Given the description of an element on the screen output the (x, y) to click on. 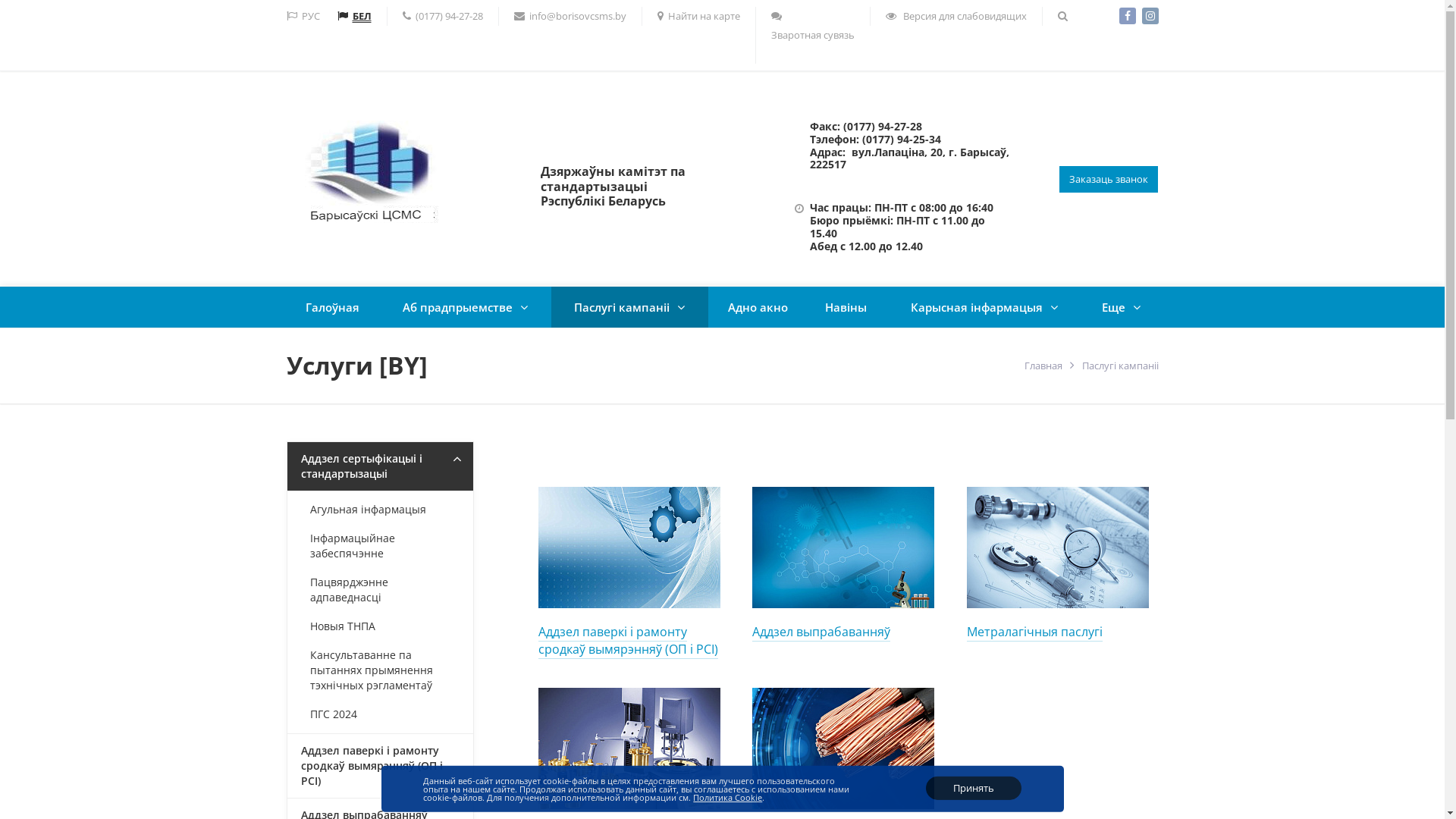
info@borisovcsms.by Element type: text (569, 16)
Instagram Element type: hover (1150, 15)
Facebook Element type: hover (1127, 15)
(0177) 94-27-28 Element type: text (441, 16)
